Given the description of an element on the screen output the (x, y) to click on. 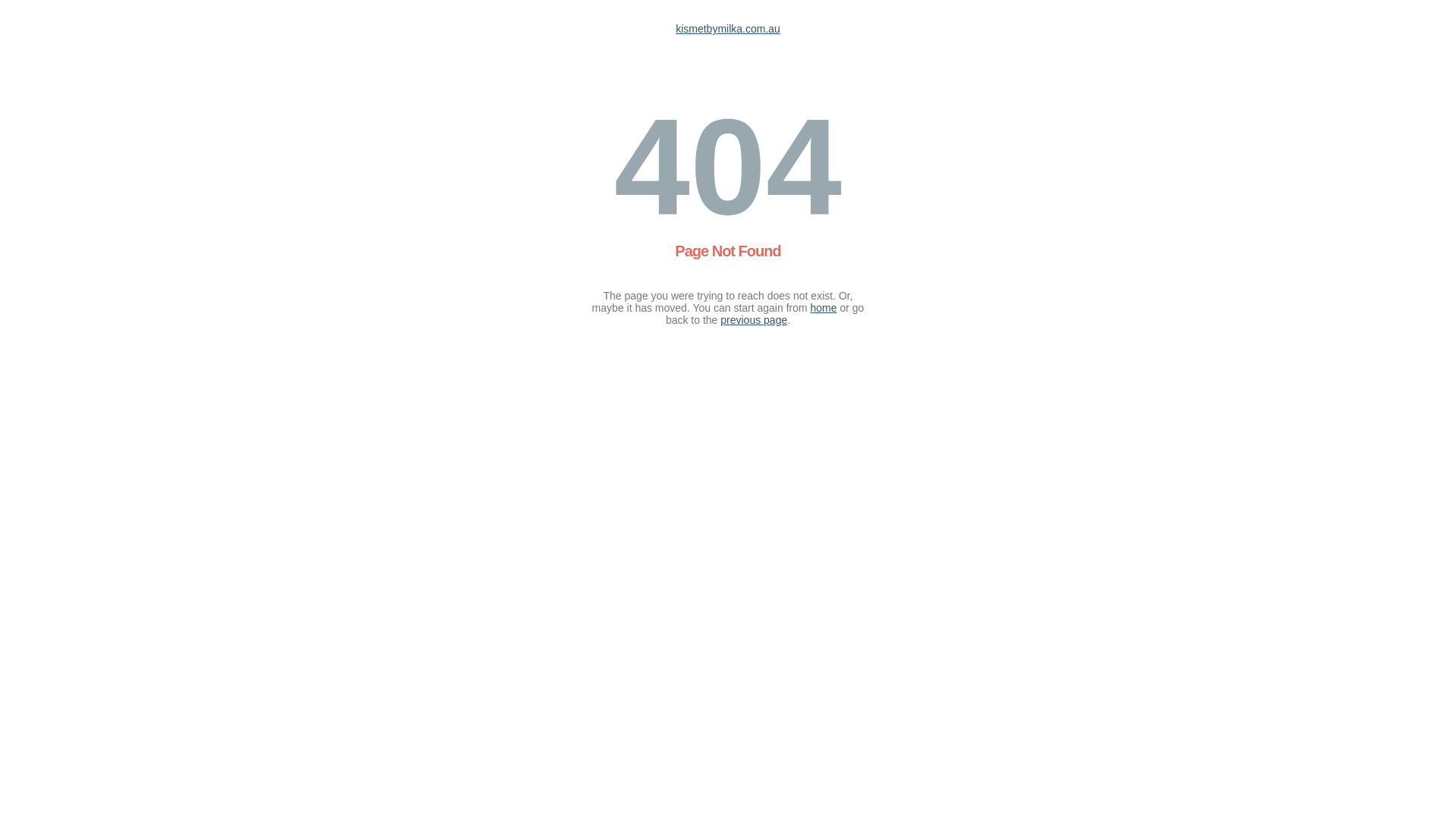
kismetbymilka.com.au Element type: text (727, 28)
previous page Element type: text (753, 319)
home Element type: text (823, 307)
